Given the description of an element on the screen output the (x, y) to click on. 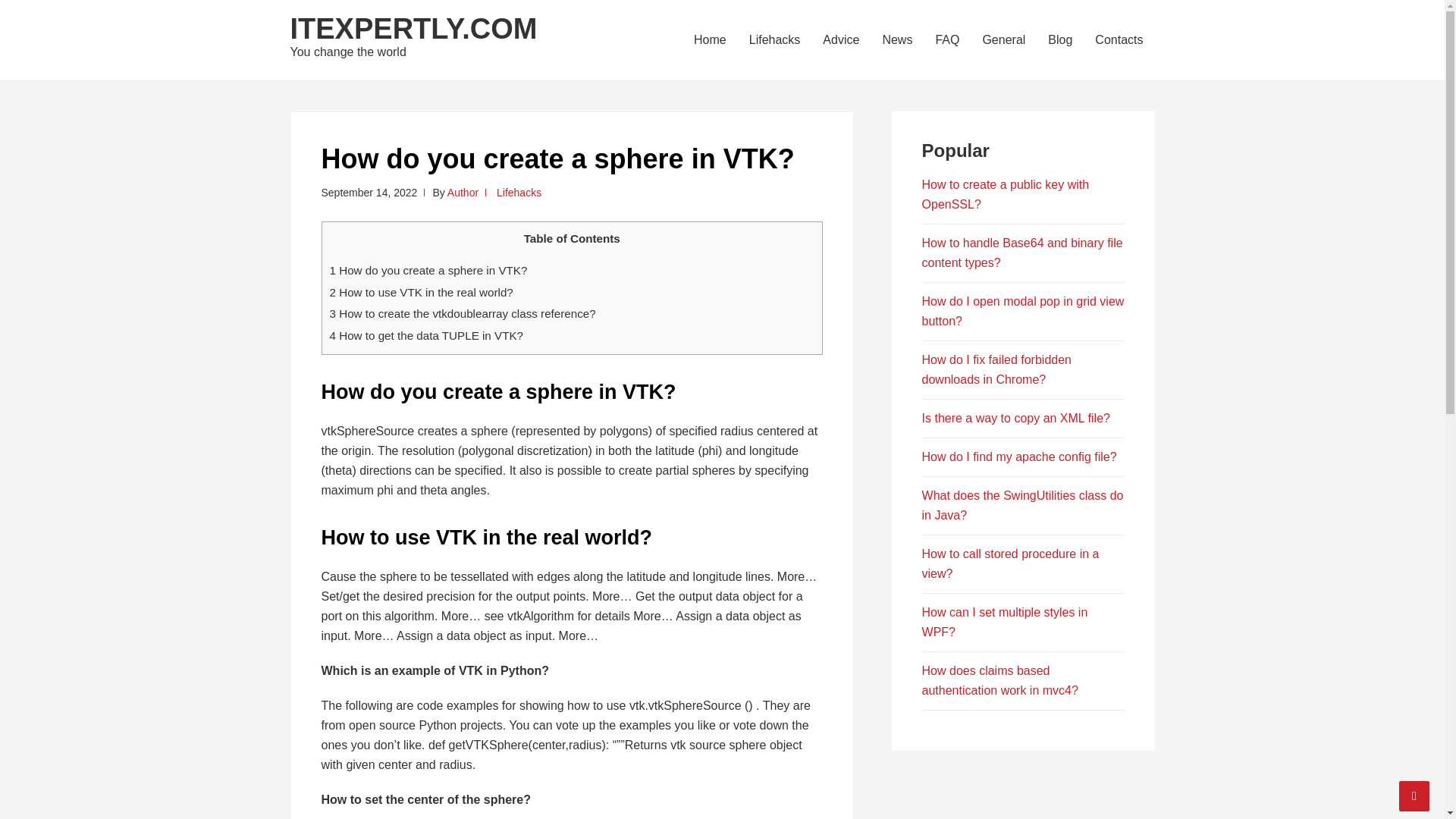
Home (710, 39)
ITEXPERTLY.COM (413, 29)
How can I set multiple styles in WPF? (1004, 622)
How to call stored procedure in a view? (1010, 563)
View all posts by Author (462, 192)
4 How to get the data TUPLE in VTK? (425, 335)
1 How do you create a sphere in VTK? (428, 269)
How to create a public key with OpenSSL? (1005, 194)
How does claims based authentication work in mvc4? (999, 680)
Advice (840, 39)
How do I find my apache config file? (1018, 456)
2 How to use VTK in the real world? (420, 291)
Author (462, 192)
Lifehacks (775, 39)
Is there a way to copy an XML file? (1015, 418)
